Given the description of an element on the screen output the (x, y) to click on. 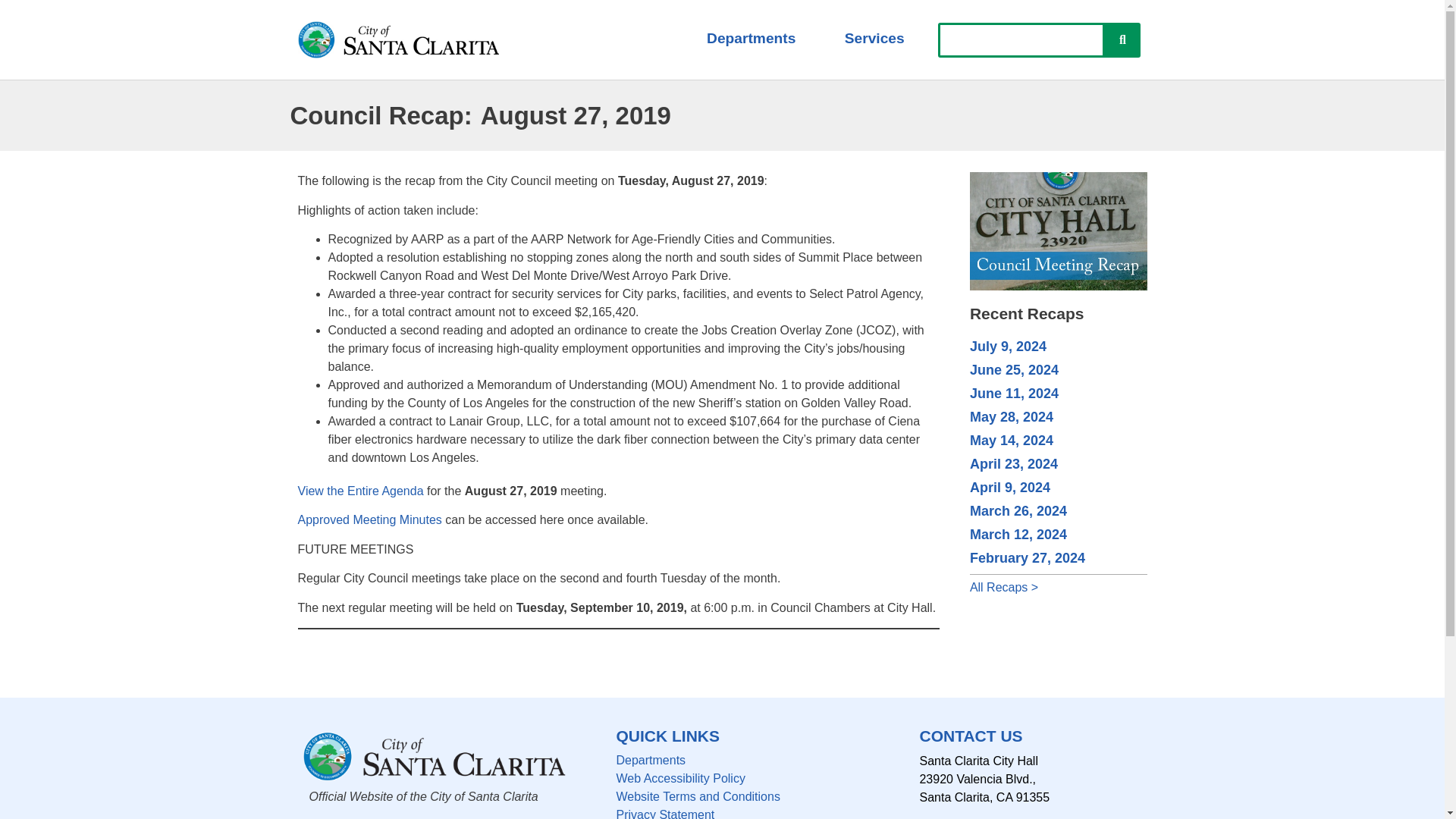
April 9, 2024 (1009, 487)
April 23, 2024 (1013, 463)
March 26, 2024 (1018, 510)
May 28, 2024 (1010, 417)
February 27, 2024 (1026, 557)
Approved Meeting Minutes (369, 519)
June 25, 2024 (1013, 369)
Services (874, 37)
May 14, 2024 (1010, 440)
March 12, 2024 (1018, 534)
